Given the description of an element on the screen output the (x, y) to click on. 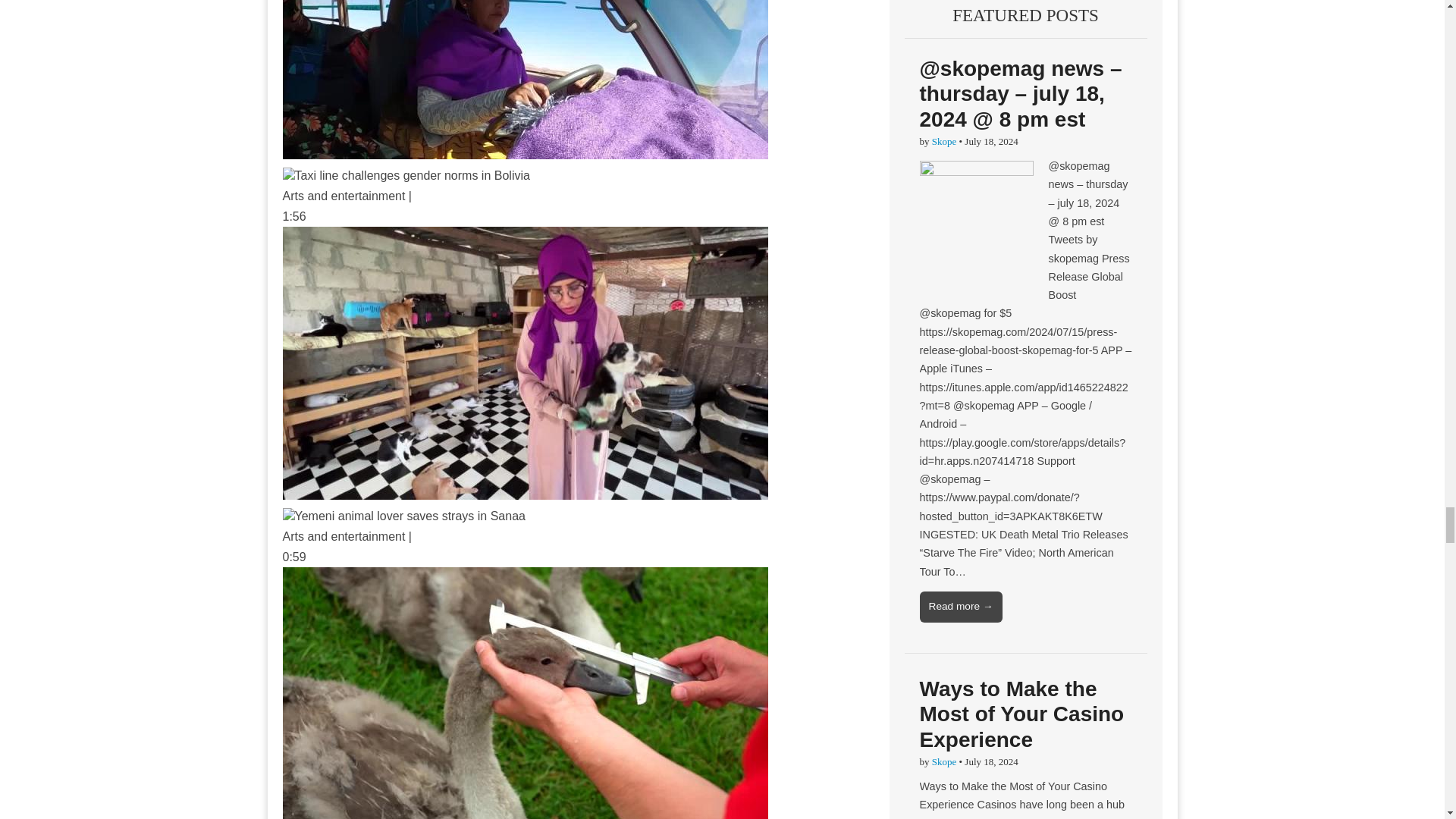
Posts by Skope (943, 761)
Posts by Skope (943, 141)
